Given the description of an element on the screen output the (x, y) to click on. 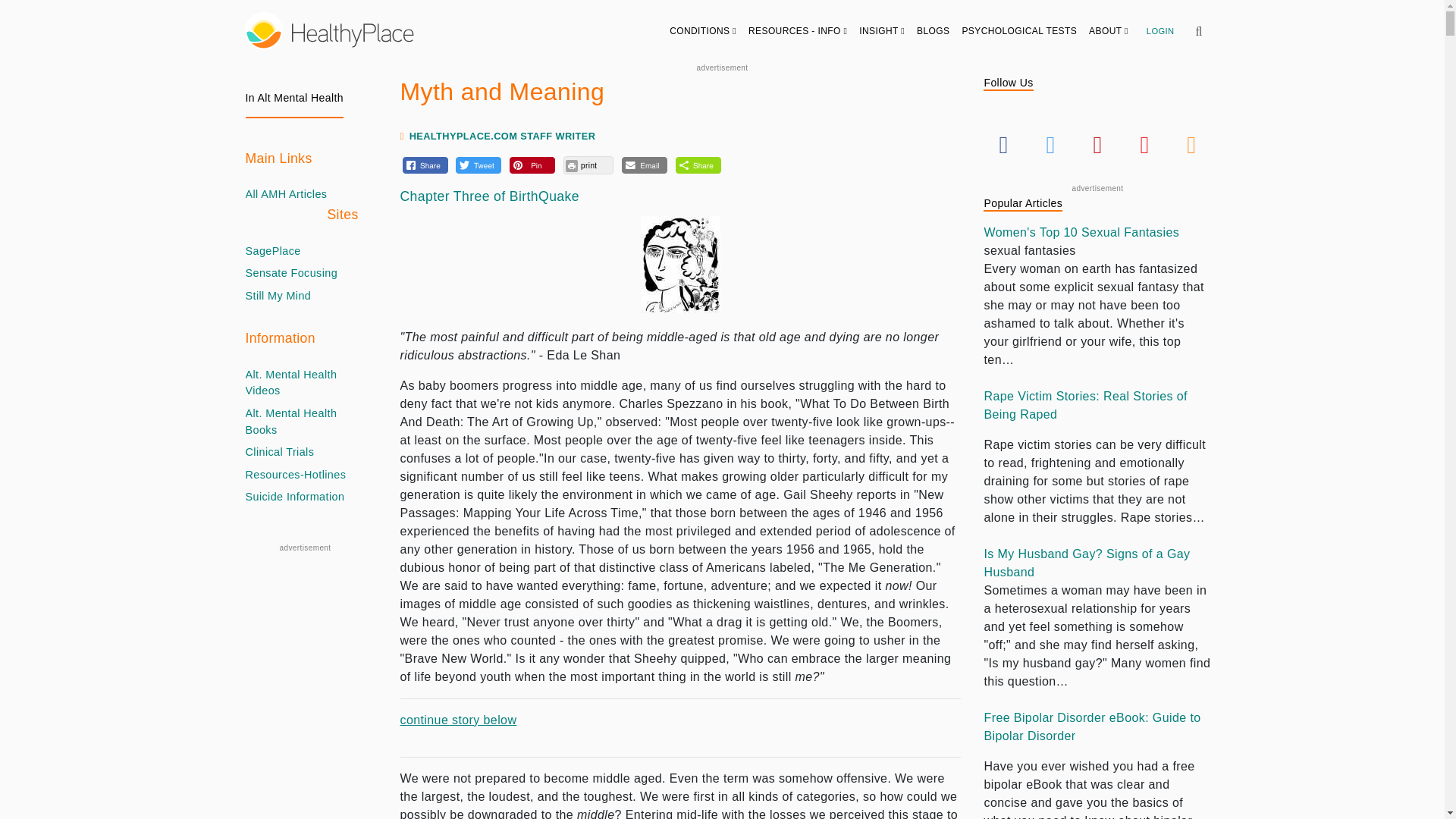
INSIGHT (882, 31)
CONDITIONS (702, 31)
RESOURCES - INFO (797, 31)
